Given the description of an element on the screen output the (x, y) to click on. 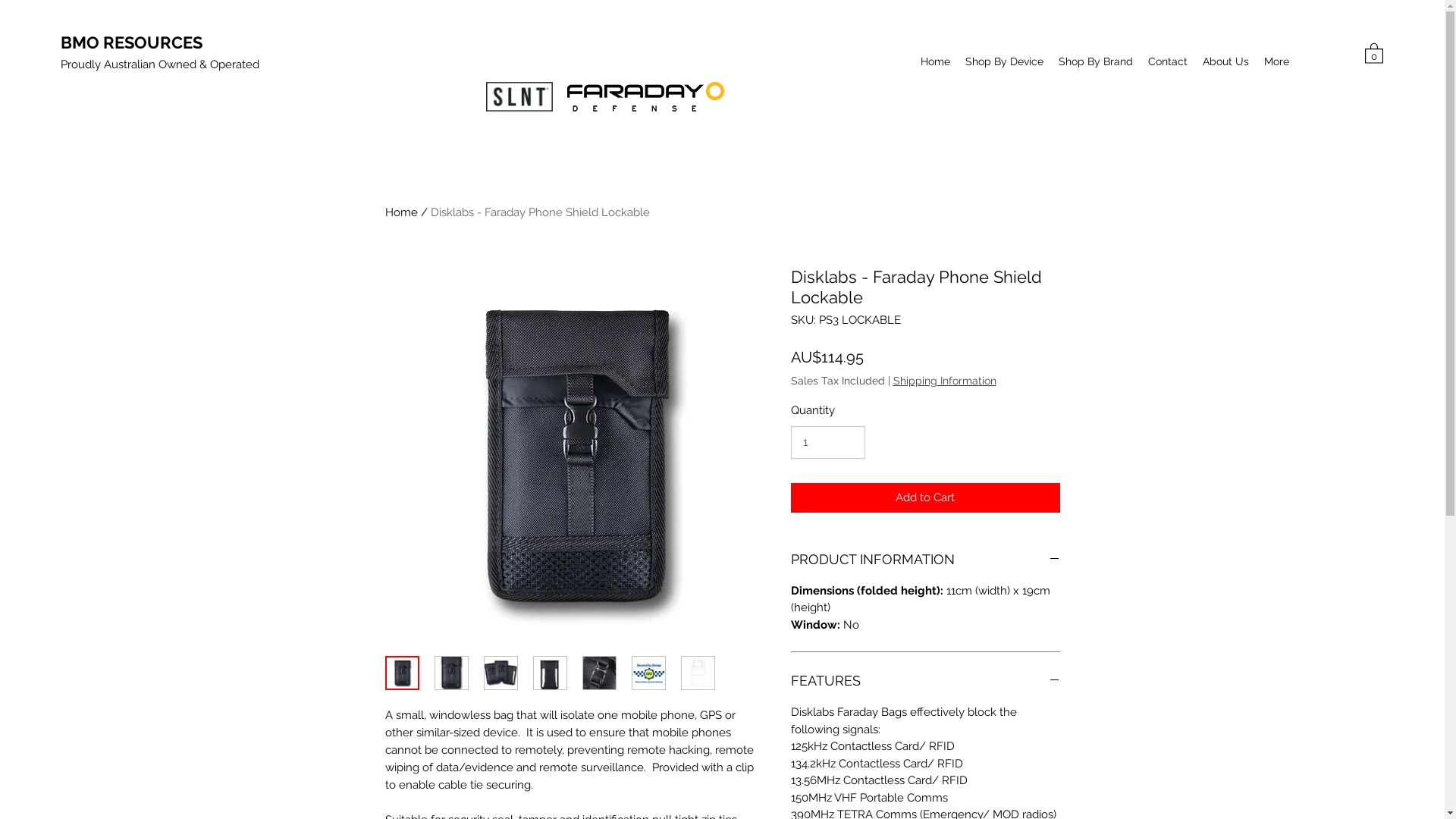
Home Element type: text (401, 212)
Home Element type: text (935, 61)
Add to Cart Element type: text (924, 497)
Shop By Device Element type: text (1004, 61)
Disklabs - Faraday Phone Shield Lockable Element type: text (539, 212)
0 Element type: text (1374, 52)
Shop By Brand Element type: text (1095, 61)
PRODUCT INFORMATION Element type: text (924, 559)
FEATURES Element type: text (924, 680)
Shipping Information Element type: text (944, 380)
About Us Element type: text (1225, 61)
Contact Element type: text (1167, 61)
